Given the description of an element on the screen output the (x, y) to click on. 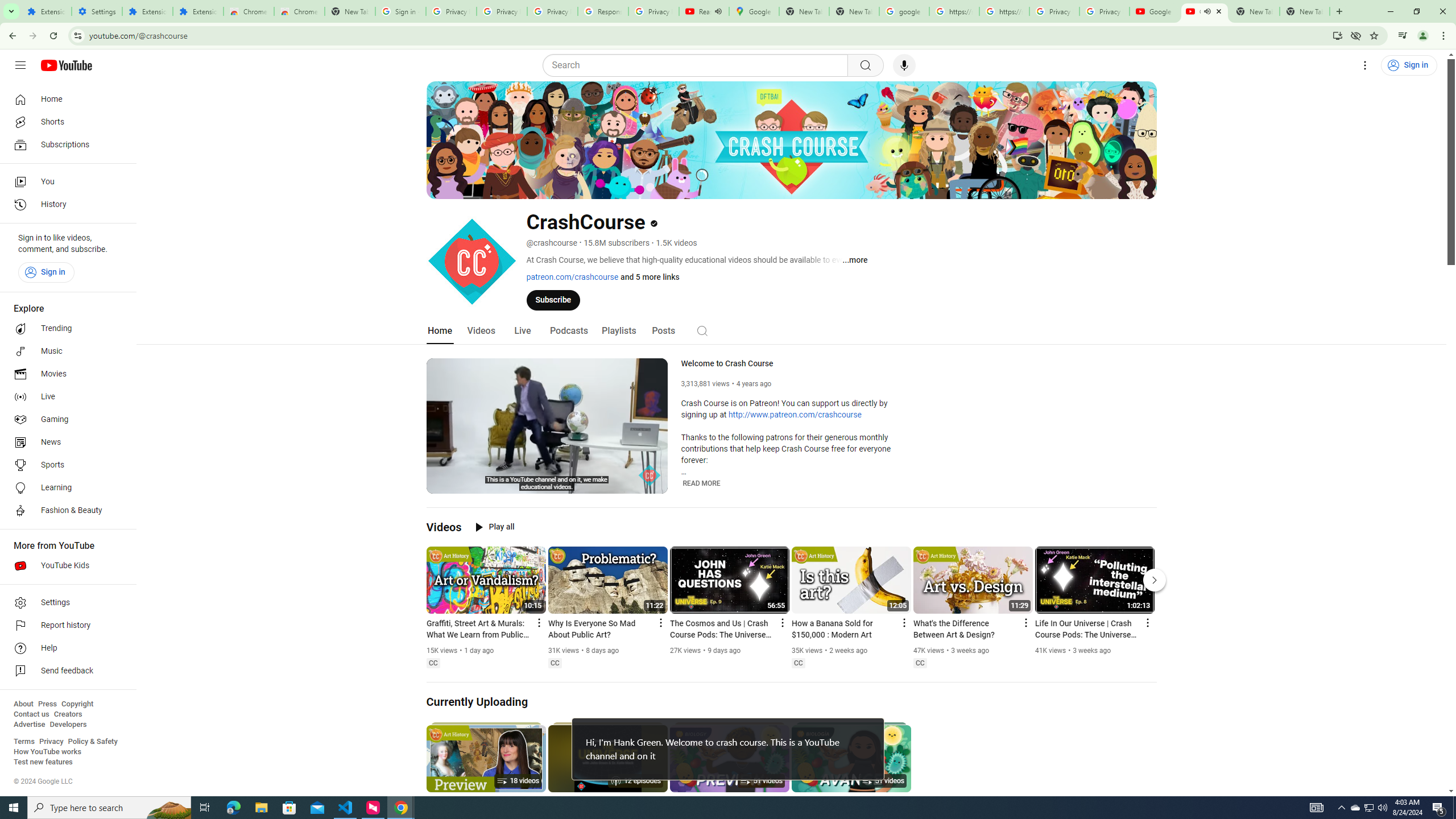
Action menu (1146, 622)
Music (64, 350)
Channel watermark (649, 475)
READ MORE (701, 482)
New Tab (1304, 11)
Creators (67, 714)
Welcome to Crash Course (795, 363)
https://scholar.google.com/ (1004, 11)
Learning (64, 487)
Subscriptions (64, 144)
